Given the description of an element on the screen output the (x, y) to click on. 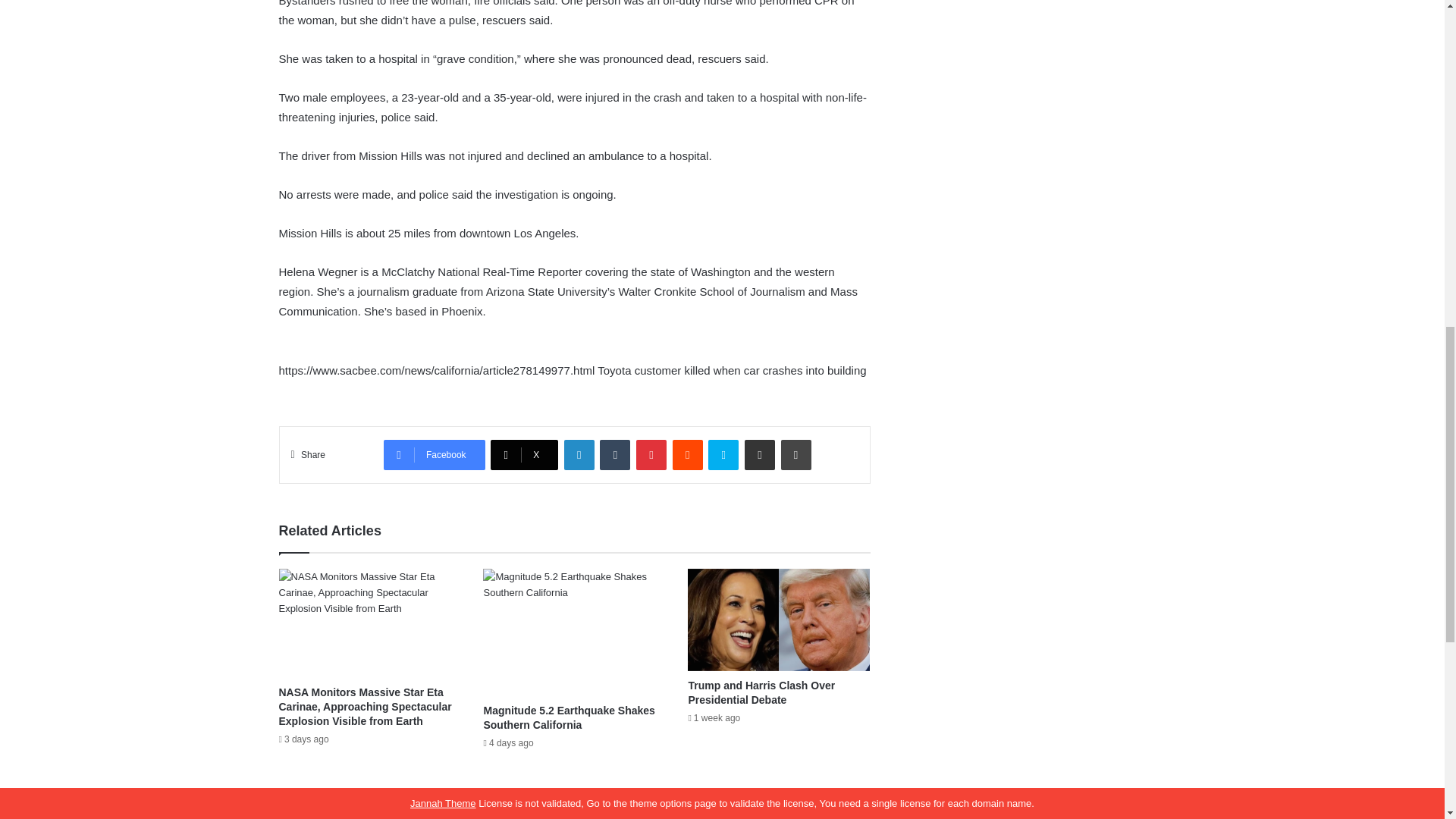
X (523, 454)
Tumblr (614, 454)
Pinterest (651, 454)
Facebook (434, 454)
Print (795, 454)
Skype (722, 454)
Facebook (434, 454)
Skype (722, 454)
X (523, 454)
LinkedIn (579, 454)
